Given the description of an element on the screen output the (x, y) to click on. 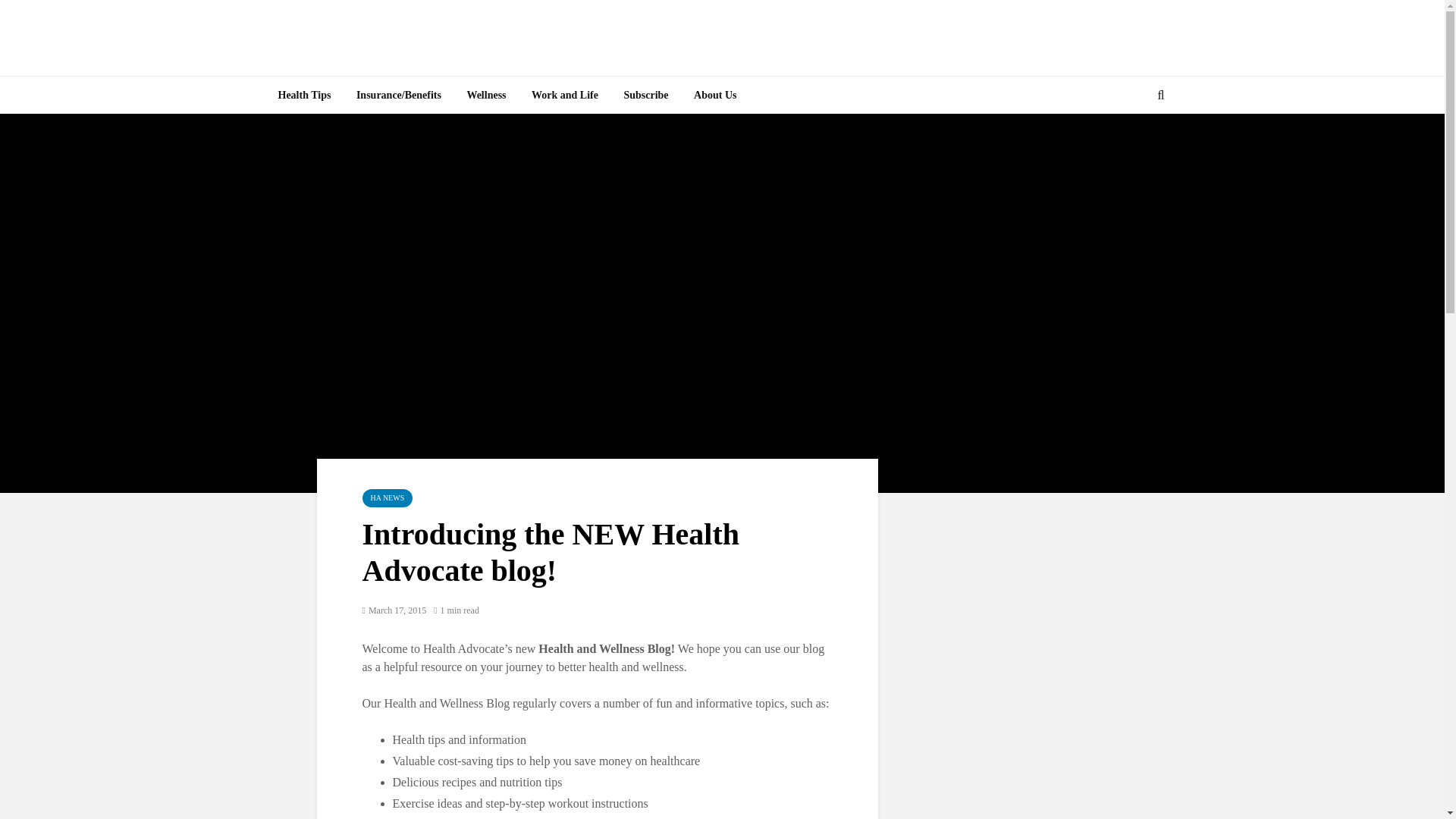
About Us (715, 95)
Wellness (485, 95)
Work and Life (564, 95)
Health Tips (304, 95)
Subscribe (645, 95)
